Given the description of an element on the screen output the (x, y) to click on. 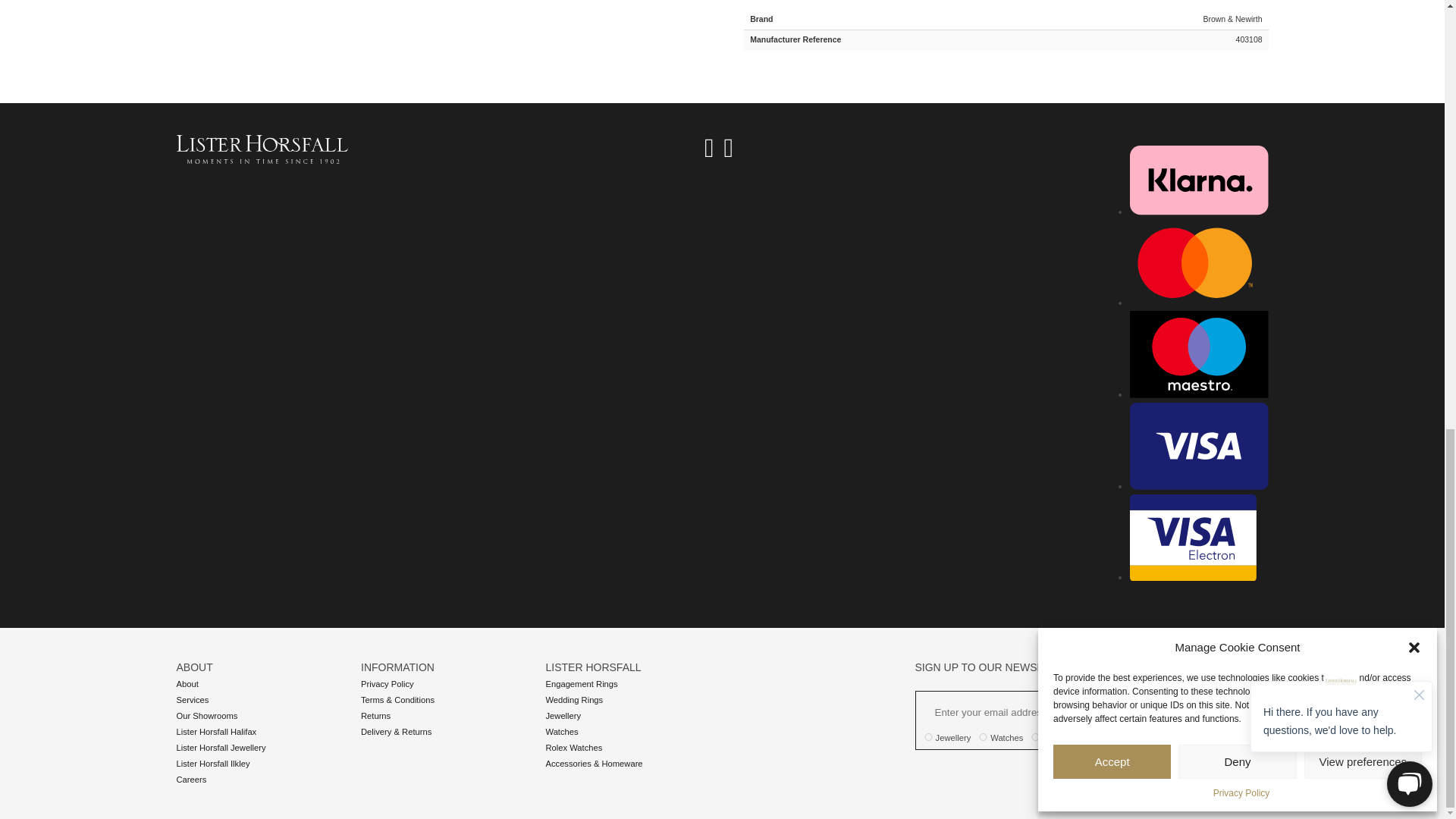
Watches (983, 737)
Jewellery (928, 737)
Both (1035, 737)
Submit (1231, 710)
